Given the description of an element on the screen output the (x, y) to click on. 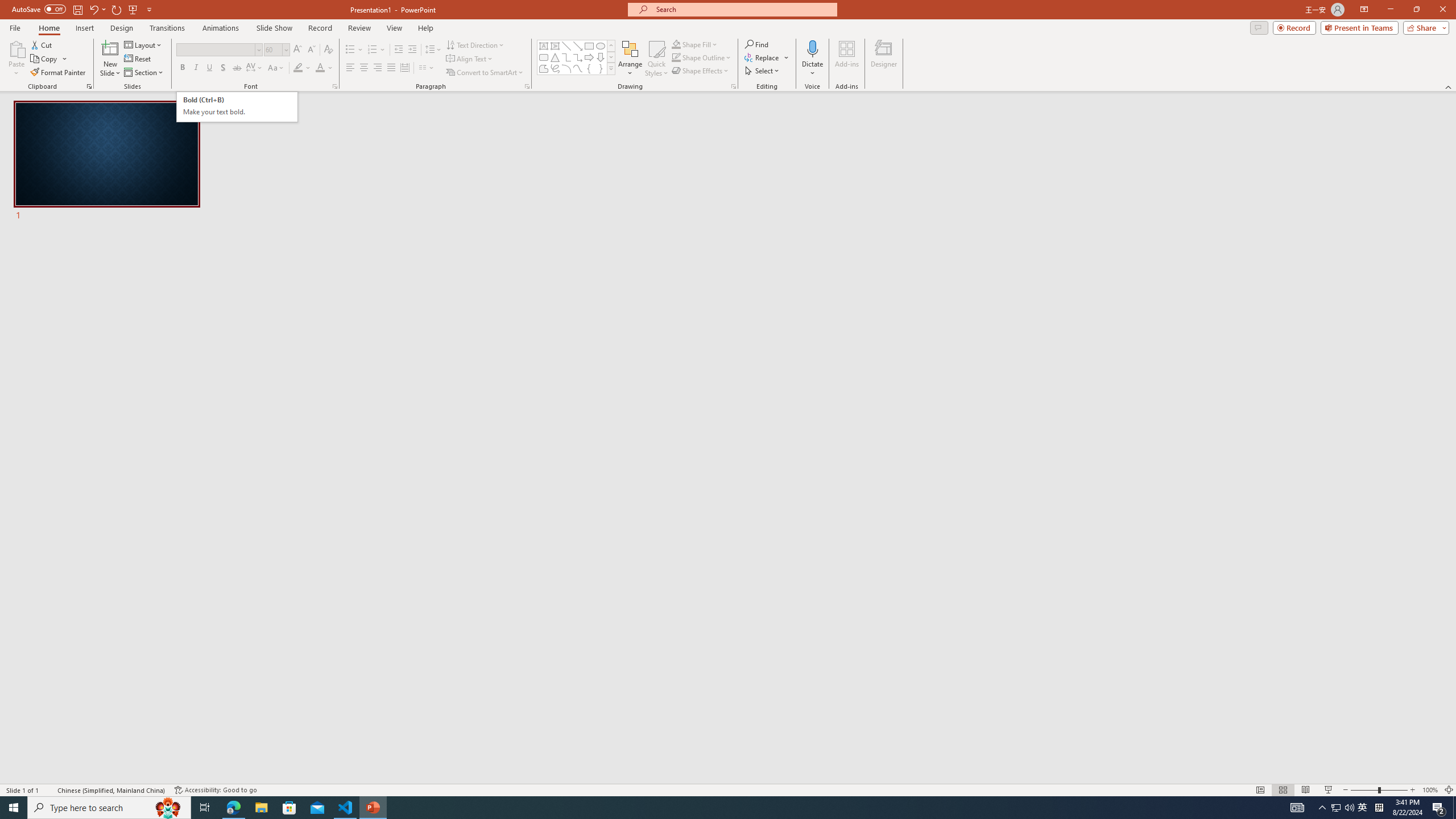
Accessibility Checker Accessibility: Good to go (216, 790)
